Given the description of an element on the screen output the (x, y) to click on. 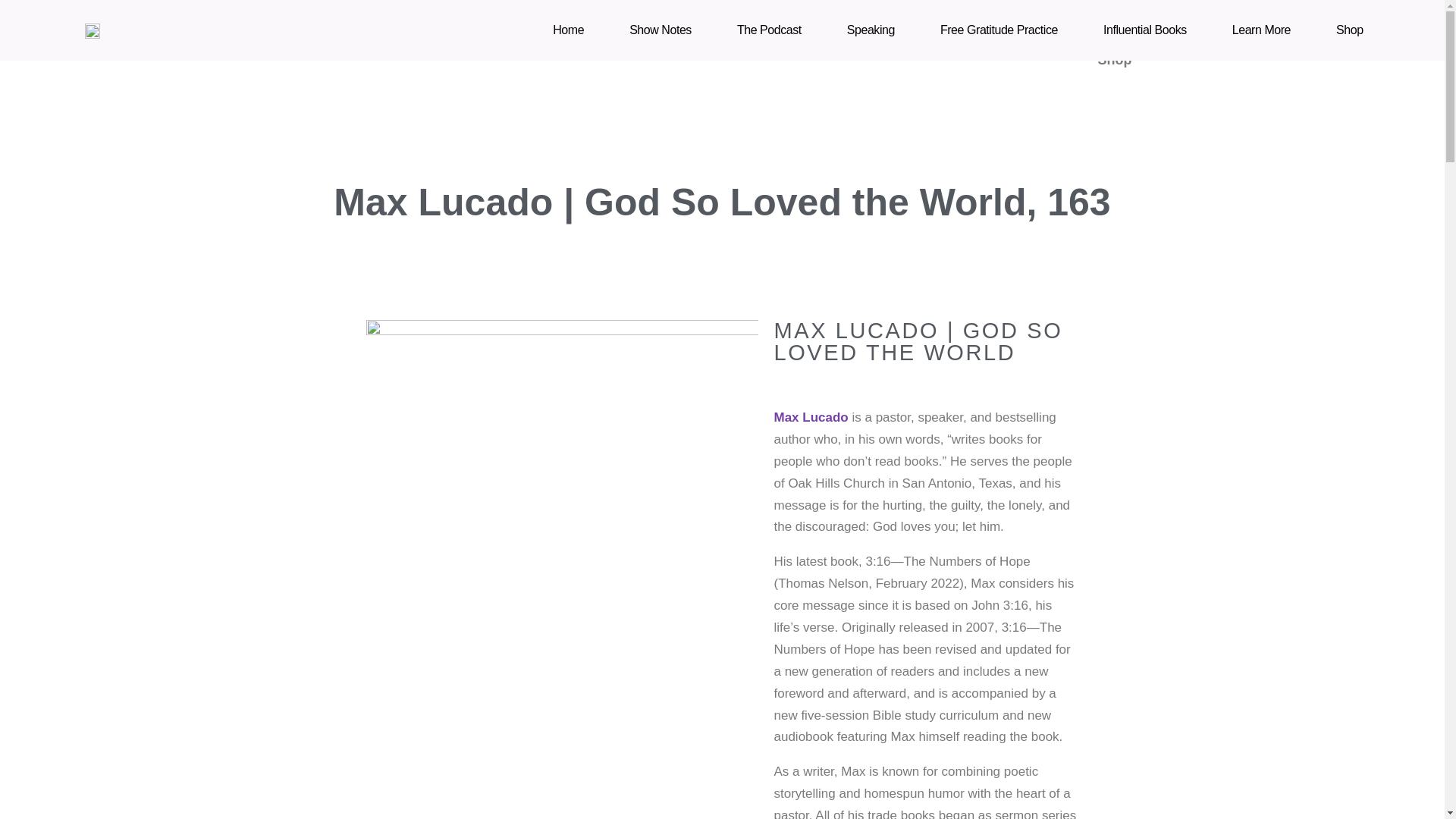
The Podcast (574, 24)
The Podcast (769, 30)
Learn More (1094, 24)
Home (567, 30)
Influential Books (972, 24)
Speaking (871, 30)
Shop (1349, 30)
Show Notes (464, 24)
Influential Books (1144, 30)
Free Gratitude Practice (999, 30)
